Given the description of an element on the screen output the (x, y) to click on. 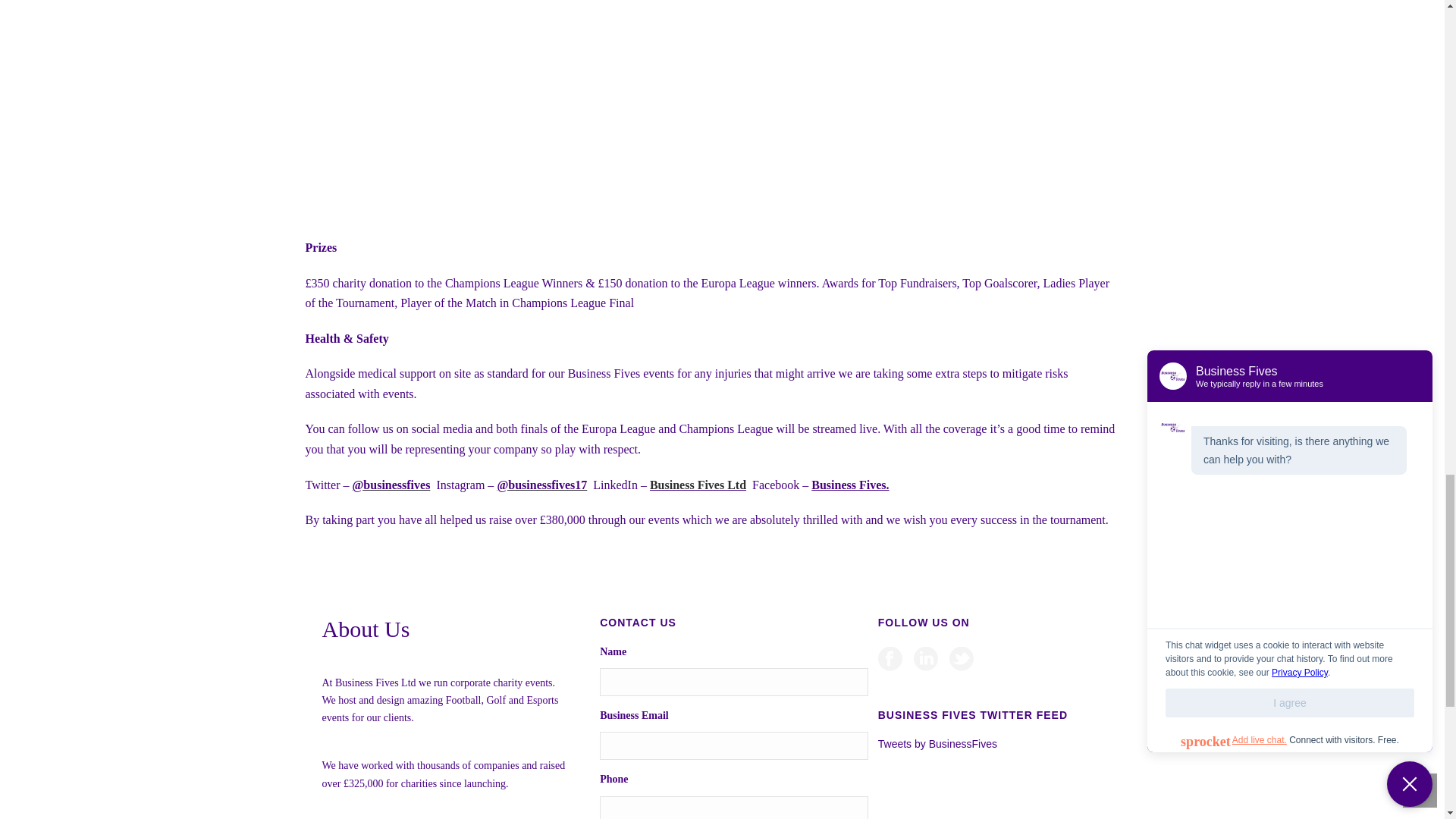
Follow Us on linkedin (925, 659)
Follow Us on facebook (889, 659)
Follow Us on twitter (961, 659)
